Given the description of an element on the screen output the (x, y) to click on. 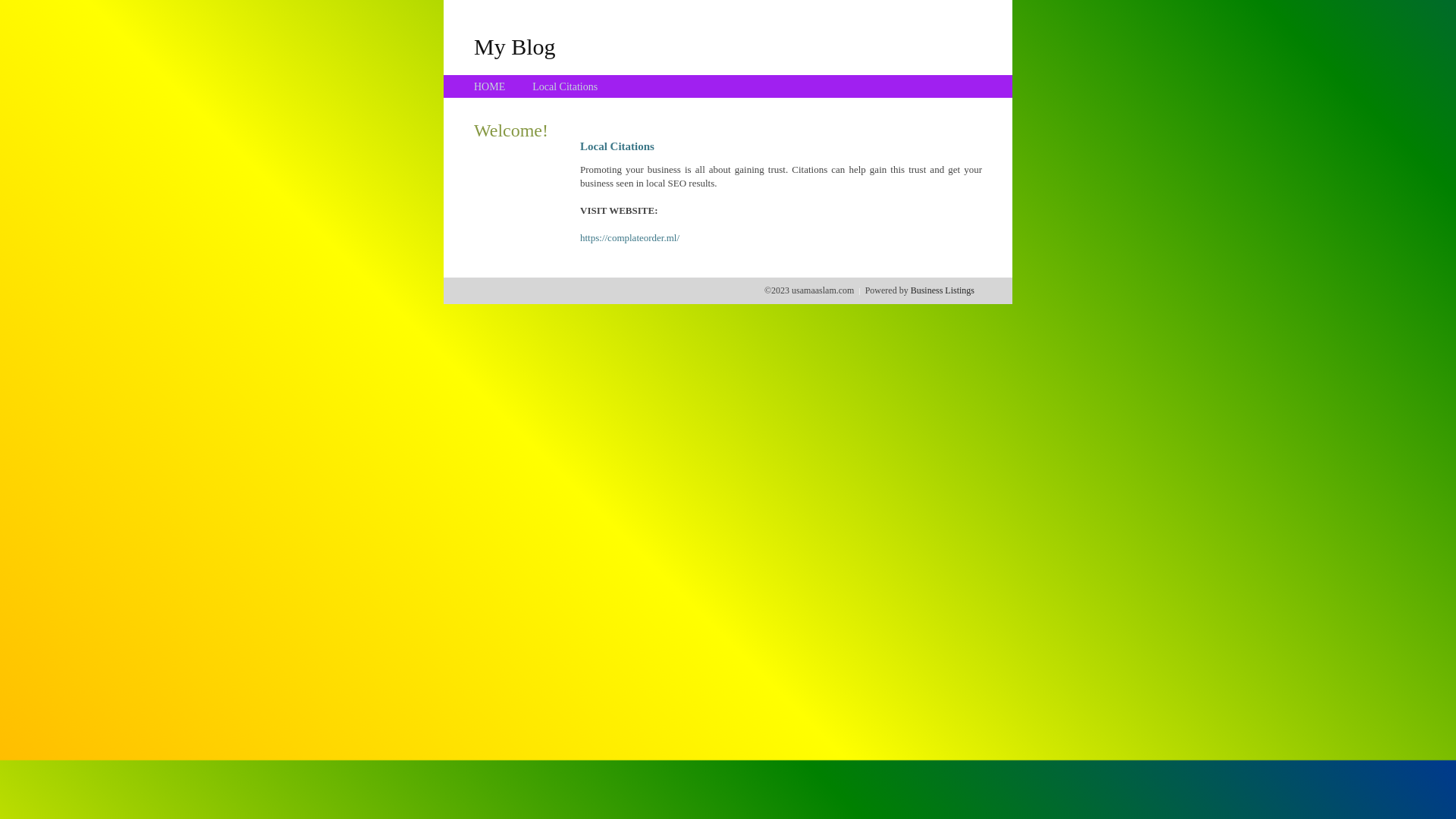
HOME Element type: text (489, 86)
My Blog Element type: text (514, 46)
Local Citations Element type: text (564, 86)
https://complateorder.ml/ Element type: text (629, 237)
Business Listings Element type: text (942, 290)
